Given the description of an element on the screen output the (x, y) to click on. 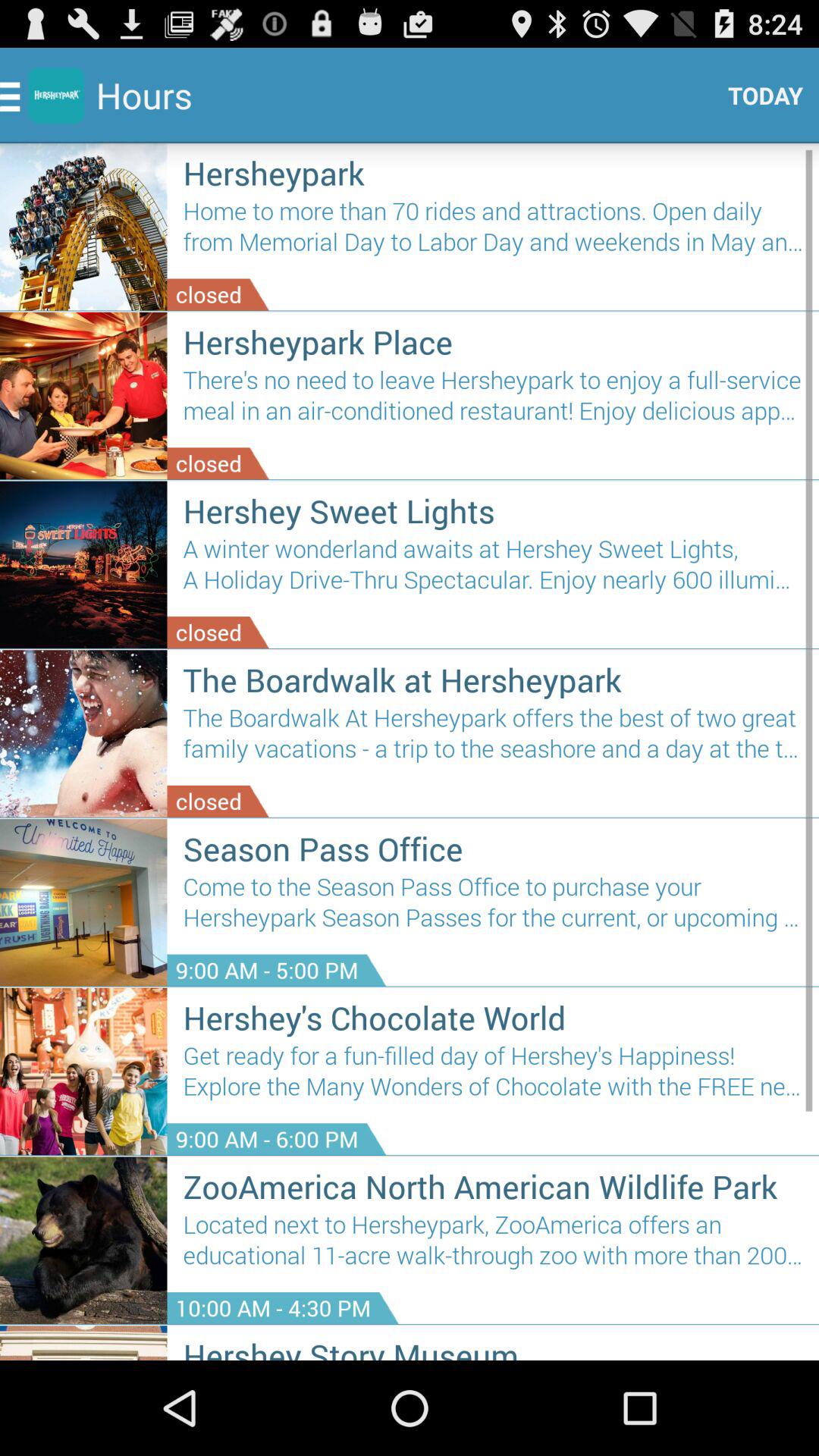
turn on the located next to icon (493, 1246)
